Given the description of an element on the screen output the (x, y) to click on. 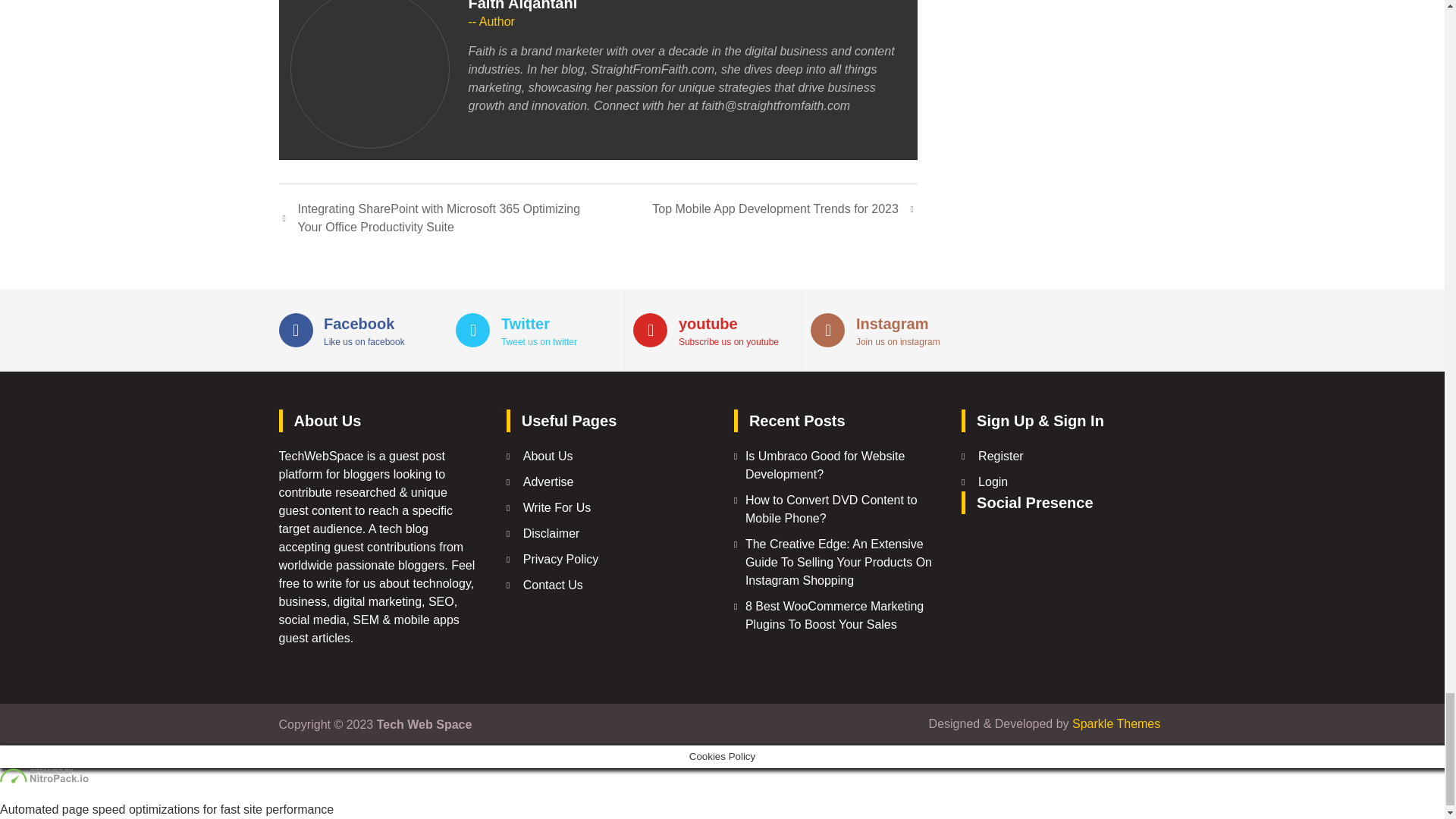
Posts by Faith Alqahtani (523, 5)
